Given the description of an element on the screen output the (x, y) to click on. 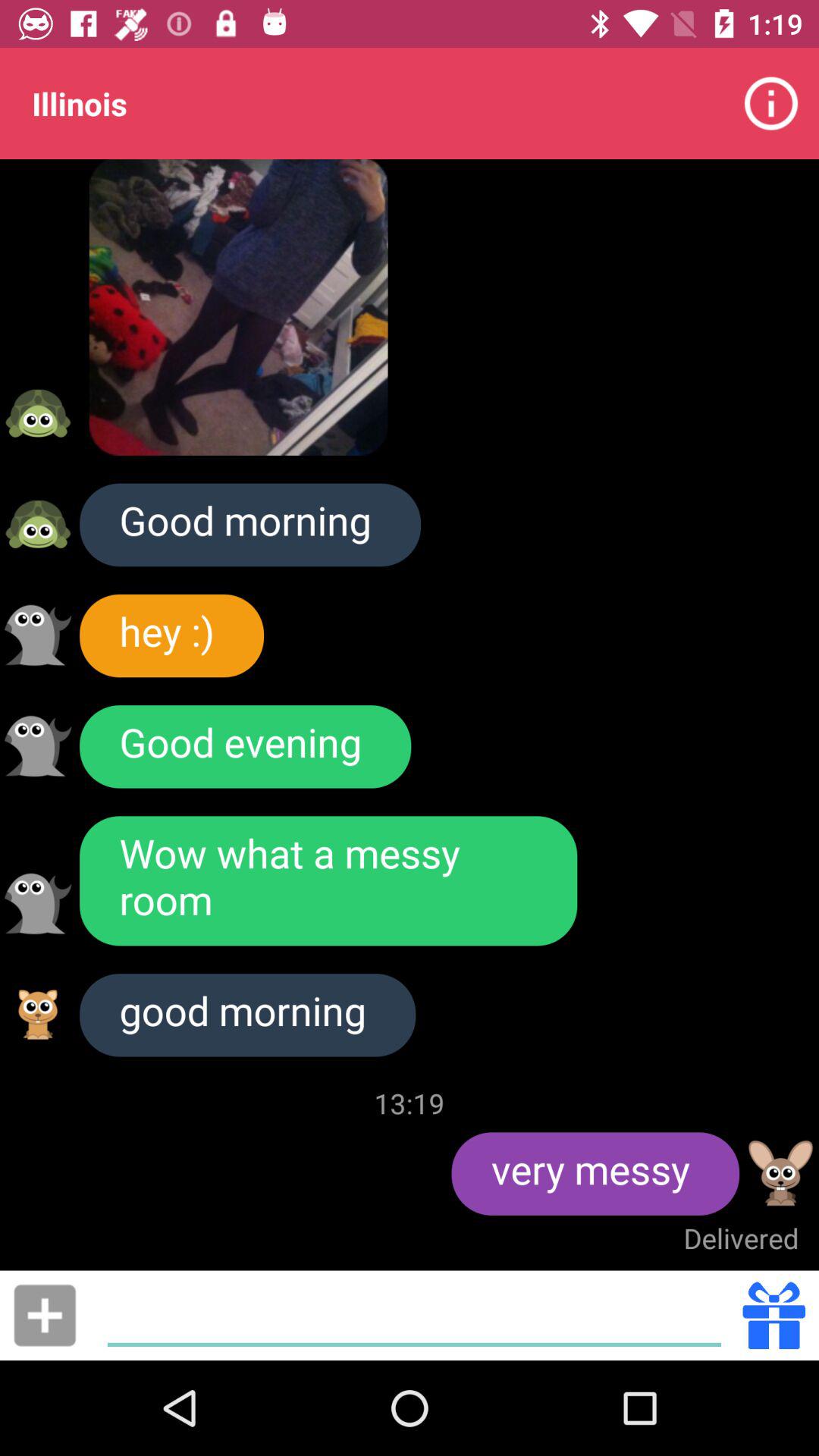
chat participant avatar (38, 903)
